Given the description of an element on the screen output the (x, y) to click on. 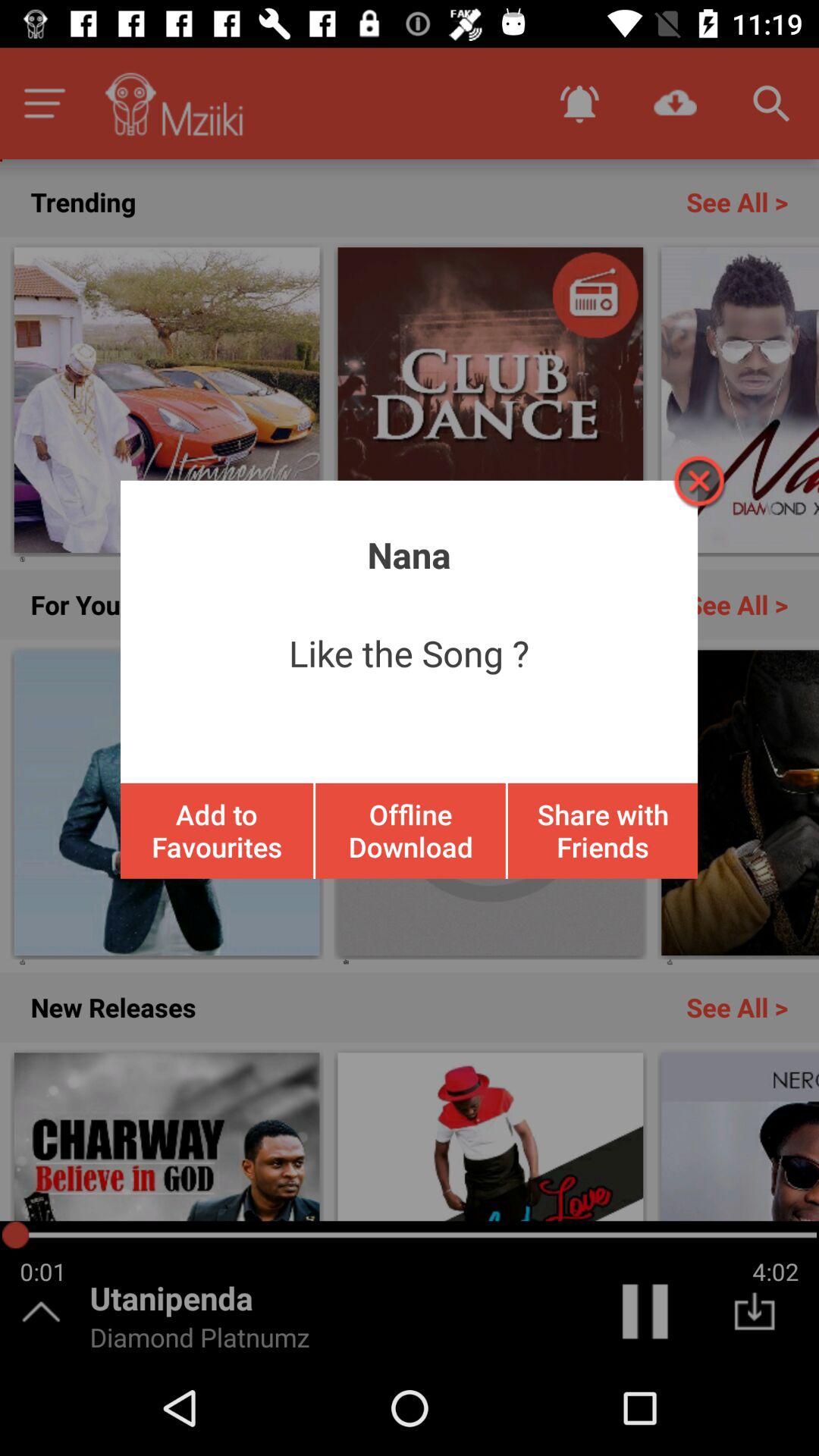
swipe to add to favourites button (216, 830)
